Given the description of an element on the screen output the (x, y) to click on. 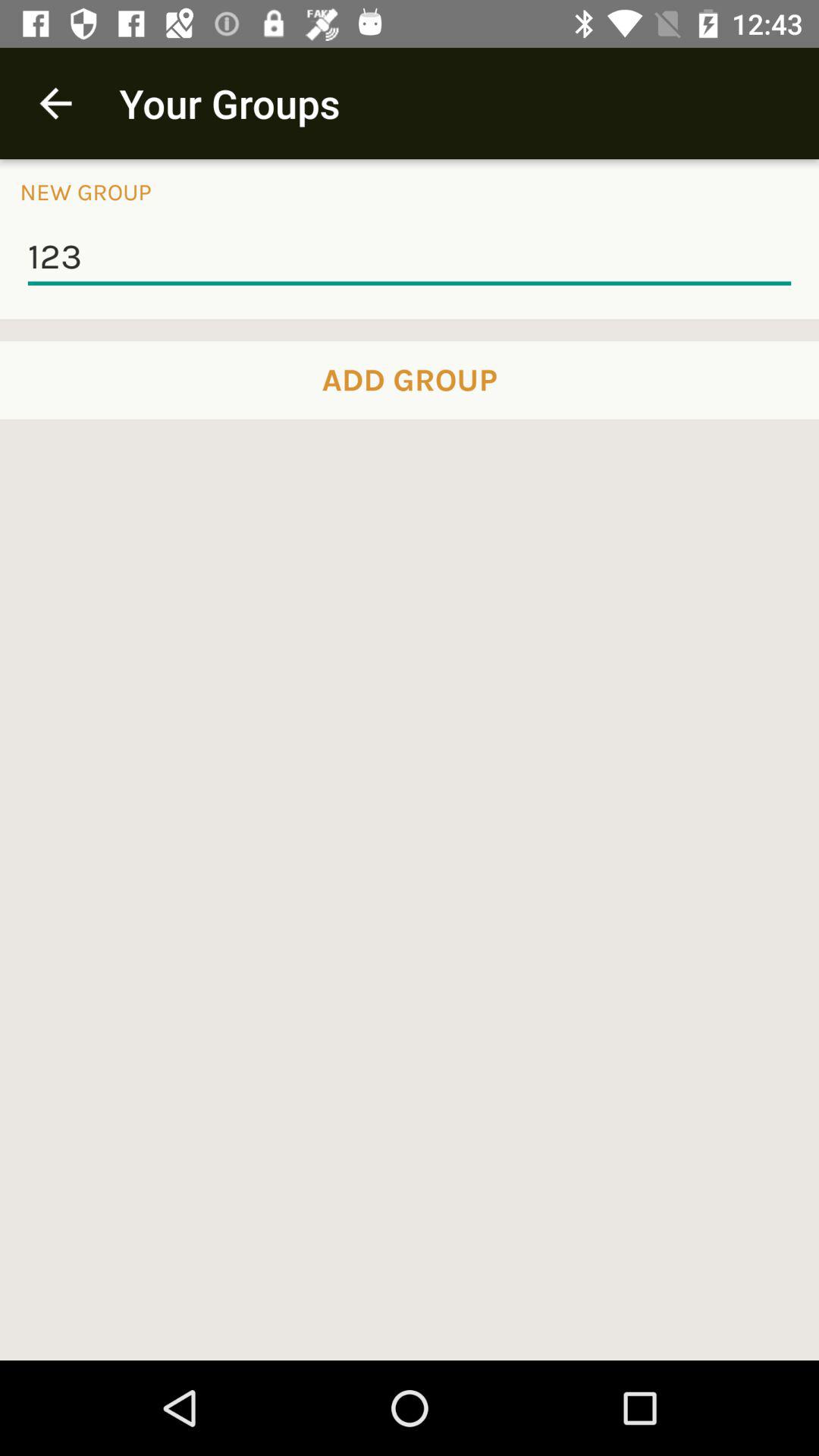
select item above new group (55, 103)
